Given the description of an element on the screen output the (x, y) to click on. 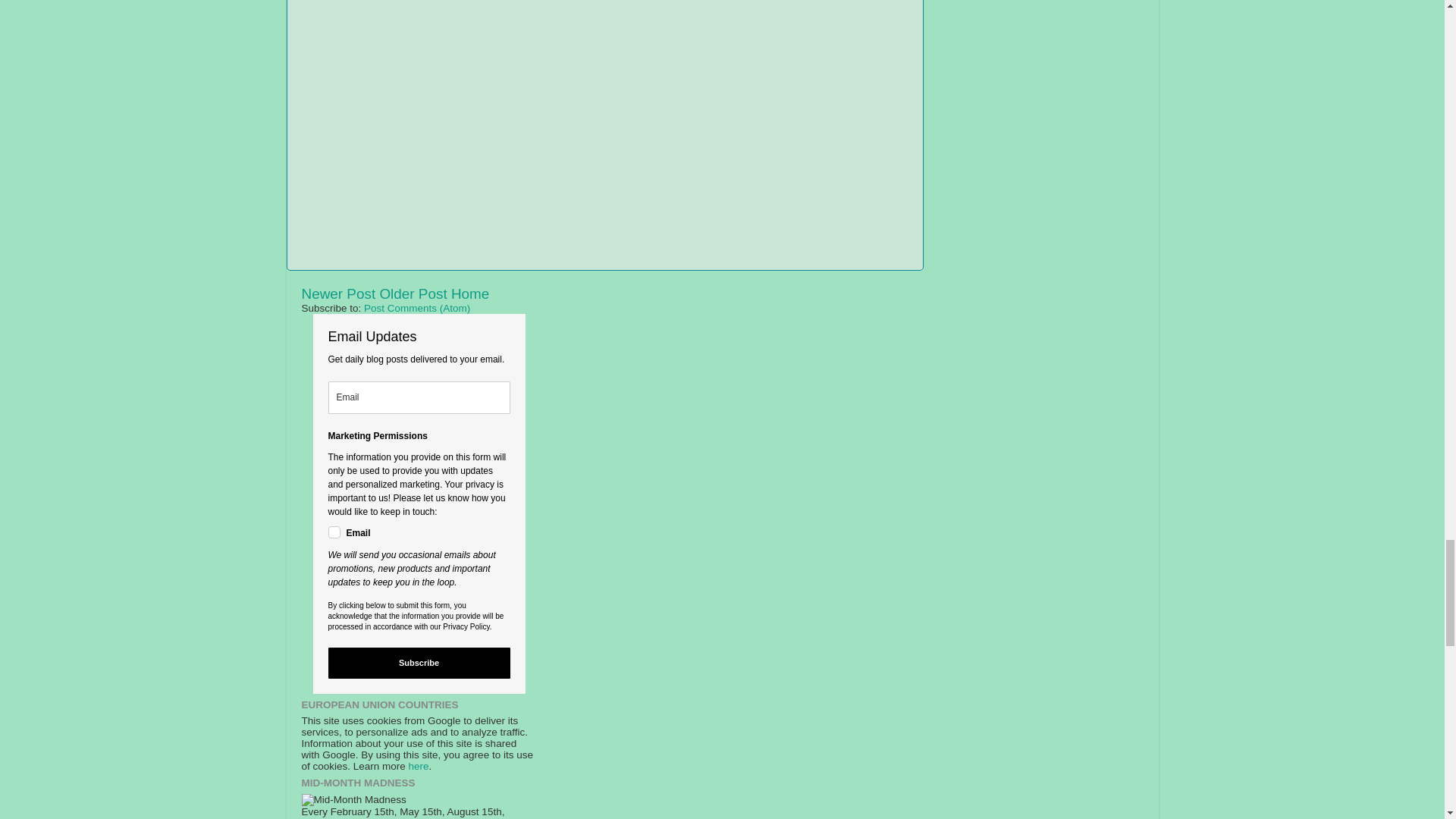
Older Post (412, 293)
Newer Post (338, 293)
